Given the description of an element on the screen output the (x, y) to click on. 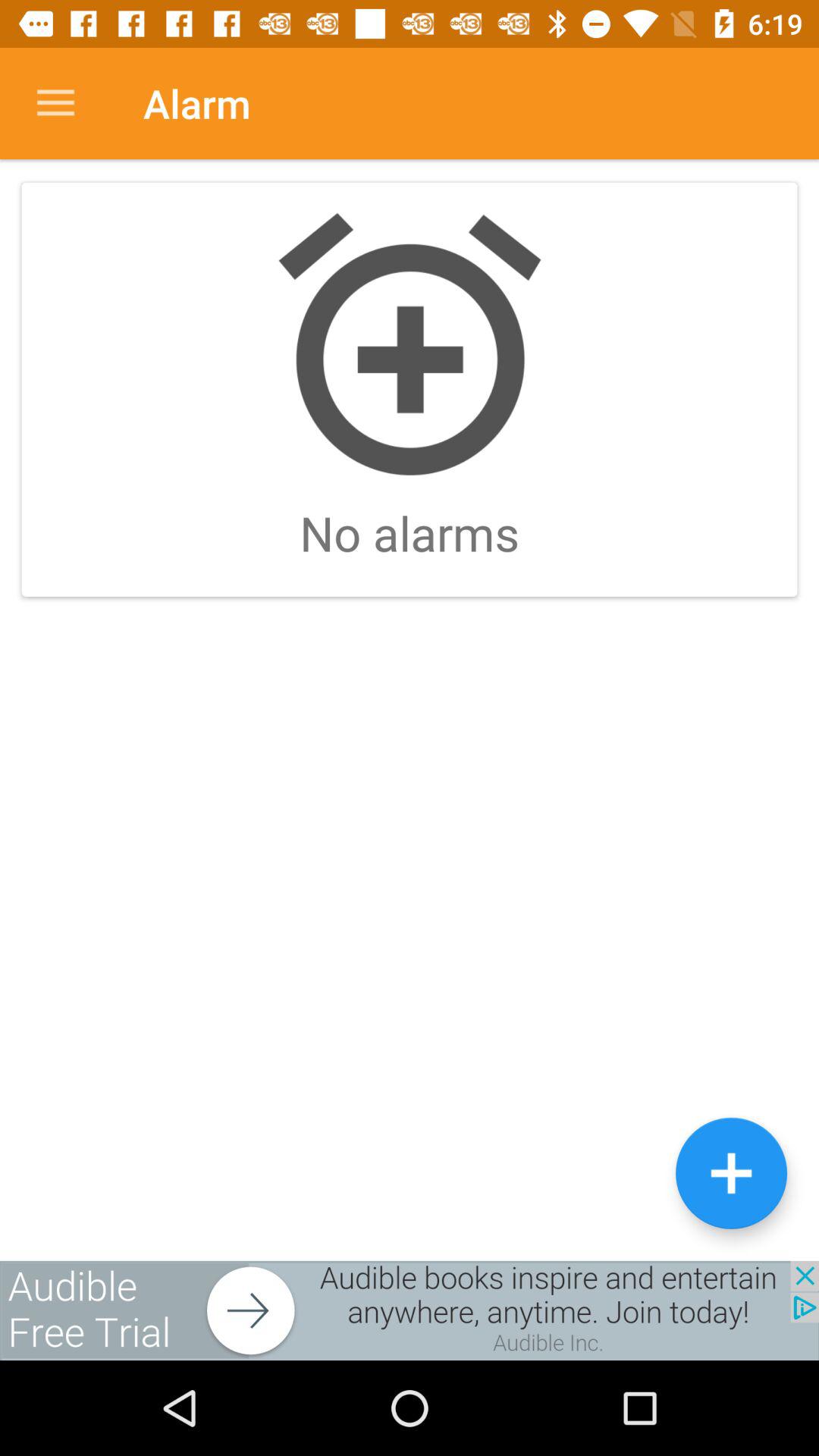
add new alarm (731, 1173)
